Given the description of an element on the screen output the (x, y) to click on. 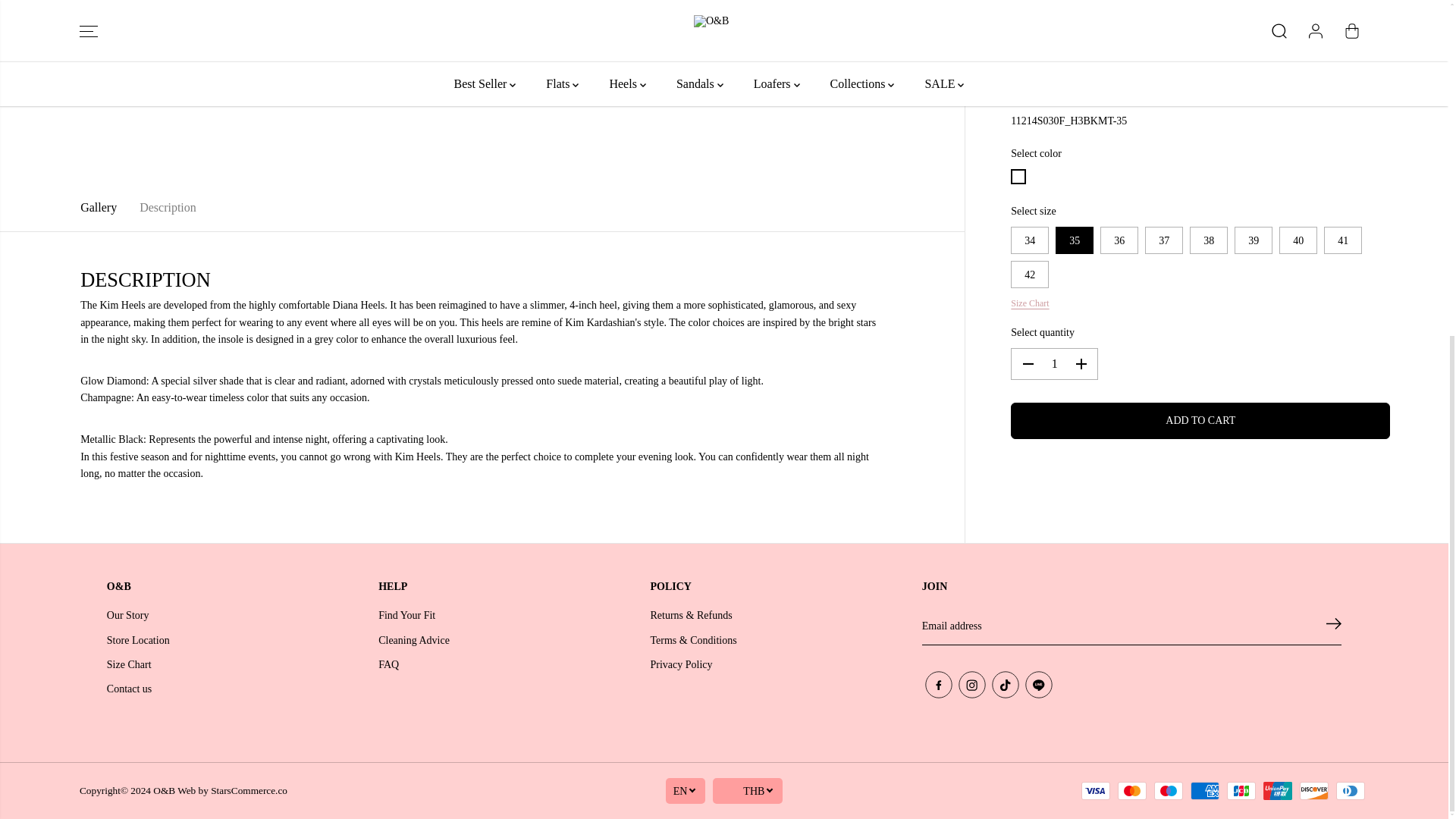
Visa (1095, 791)
Mastercard (1132, 791)
Maestro (1168, 791)
